Given the description of an element on the screen output the (x, y) to click on. 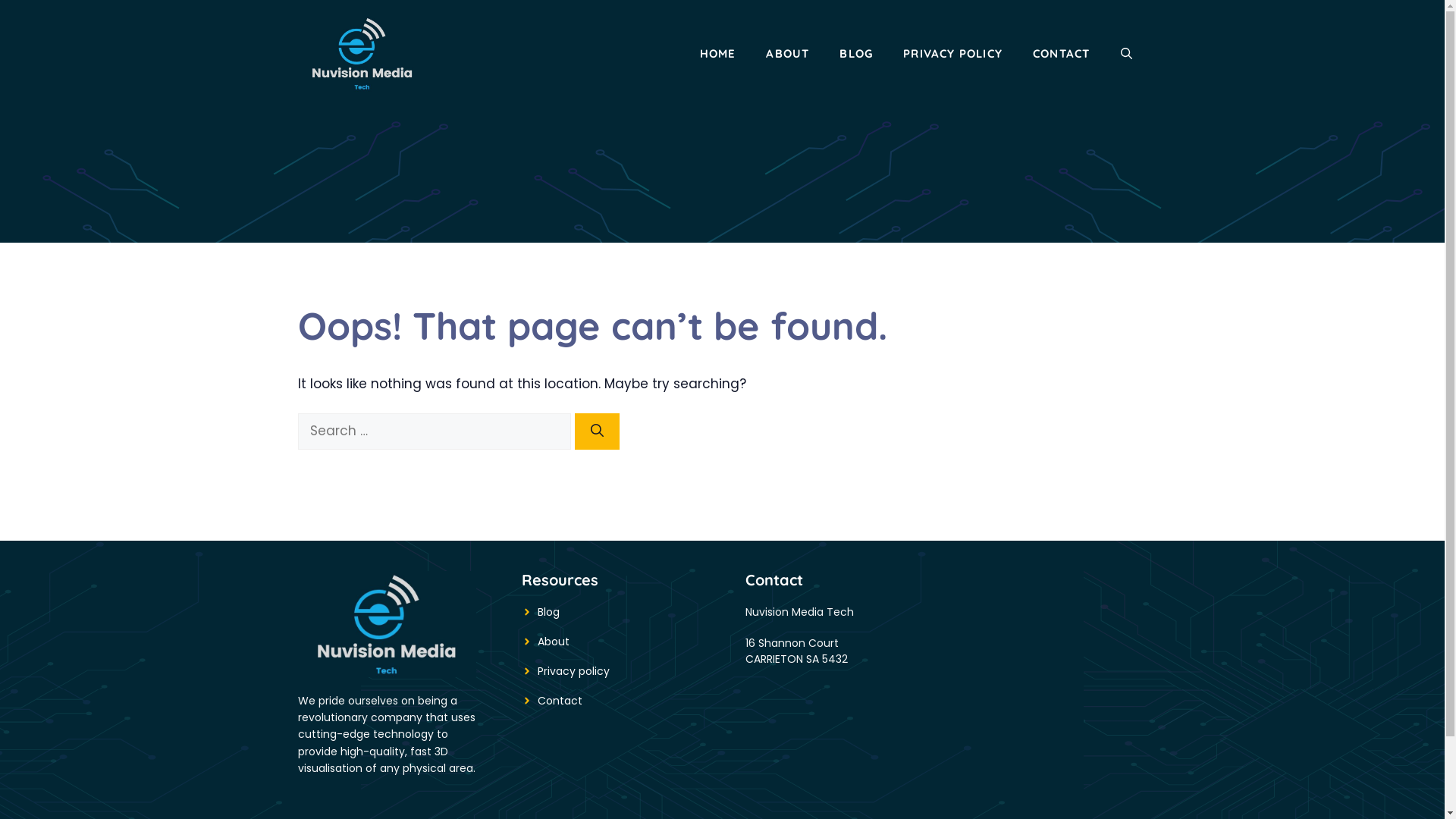
PRIVACY POLICY Element type: text (952, 53)
Blog Element type: text (547, 610)
BLOG Element type: text (856, 53)
CONTACT Element type: text (1060, 53)
HOME Element type: text (717, 53)
Privacy policy Element type: text (572, 669)
Search for: Element type: hover (433, 431)
ABOUT Element type: text (787, 53)
Contact Element type: text (558, 700)
About Element type: text (552, 641)
